Given the description of an element on the screen output the (x, y) to click on. 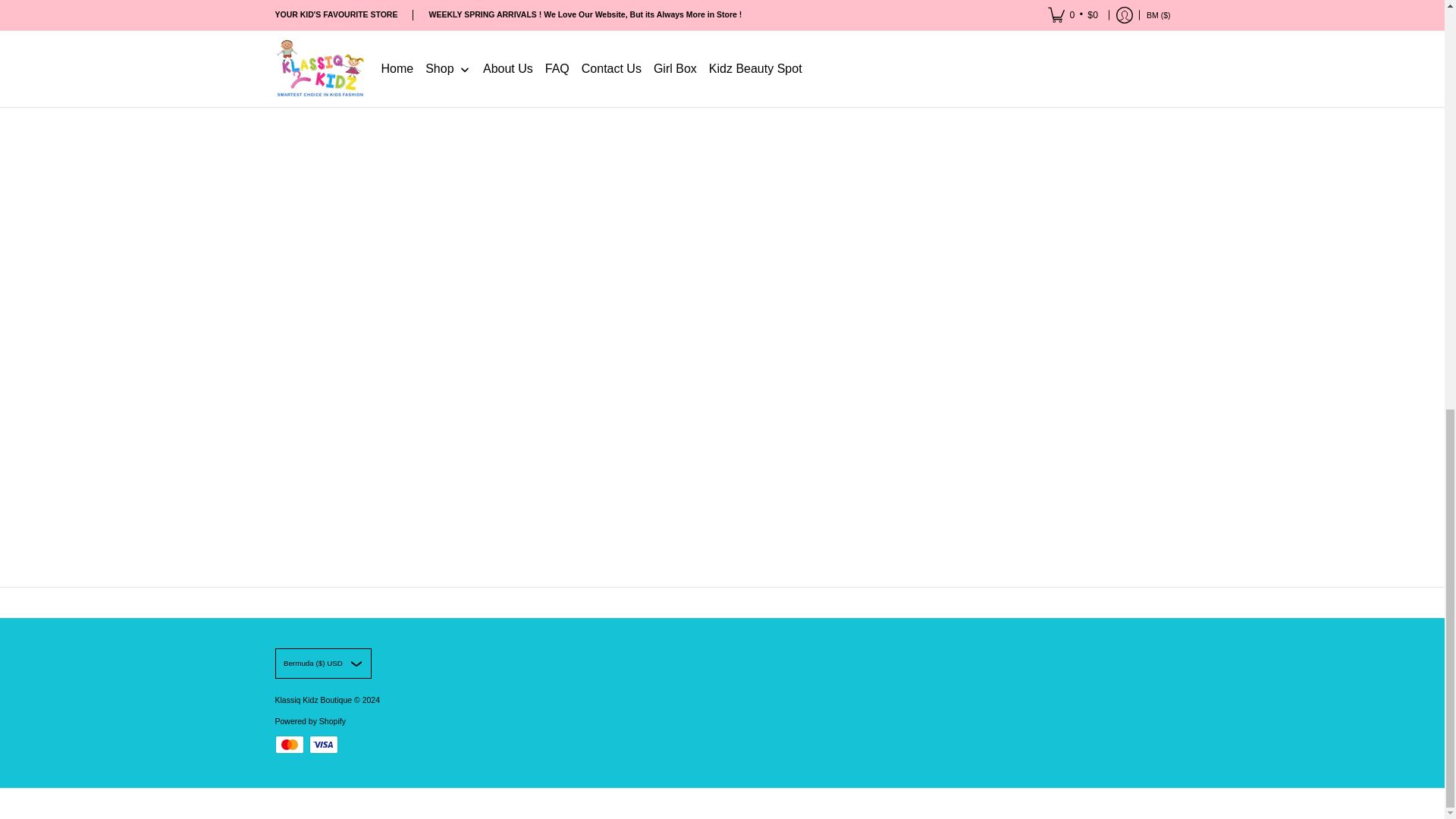
Mastercard (288, 744)
Visa (322, 744)
Update store currency (323, 663)
